Given the description of an element on the screen output the (x, y) to click on. 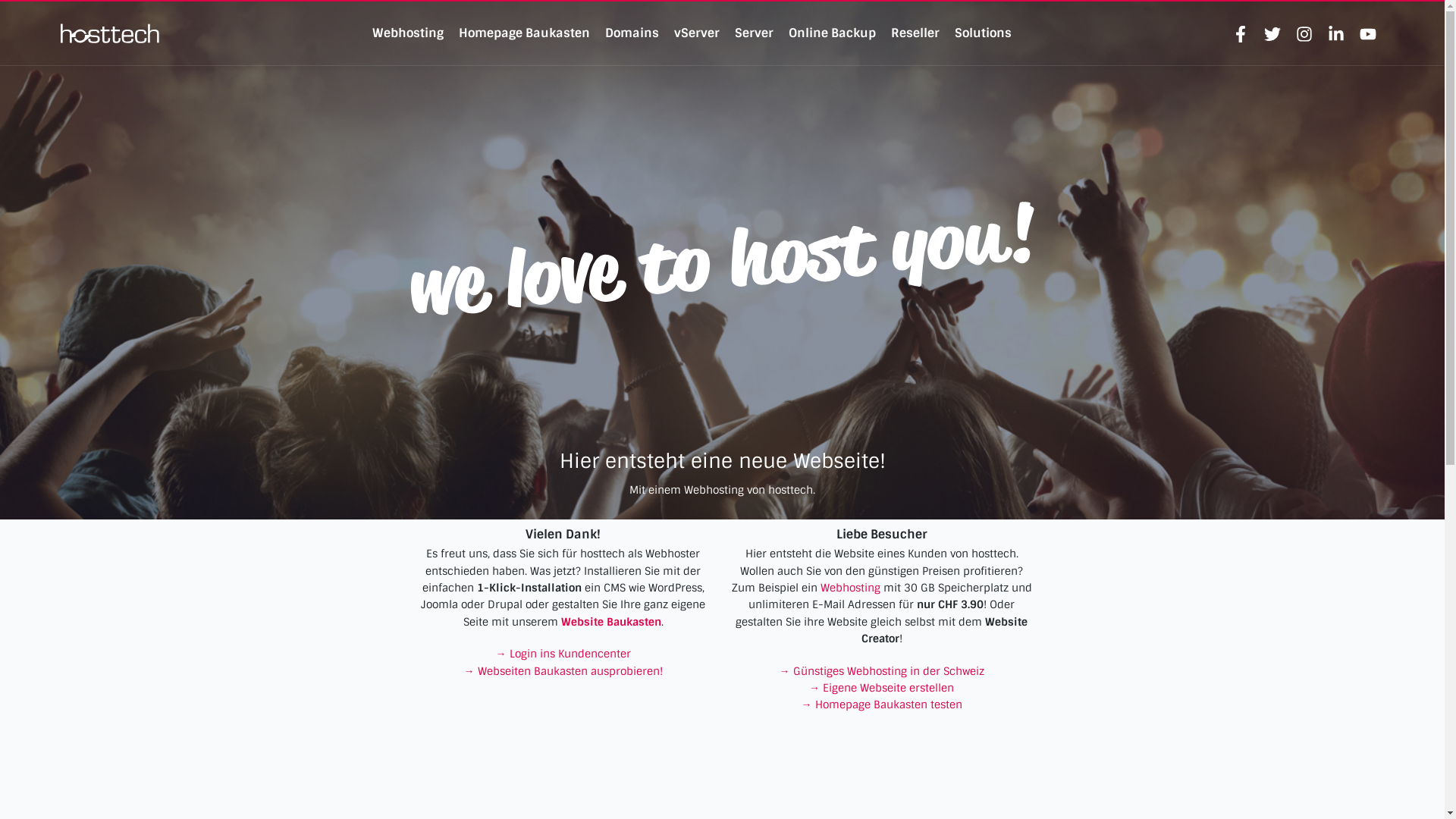
Webhosting Element type: text (850, 587)
Online Backup Element type: text (831, 32)
Homepage Baukasten Element type: text (523, 32)
Website Baukasten Element type: text (611, 621)
Domains Element type: text (631, 32)
Webhosting Element type: text (407, 32)
Solutions Element type: text (982, 32)
vServer Element type: text (696, 32)
Server Element type: text (753, 32)
Reseller Element type: text (915, 32)
